Given the description of an element on the screen output the (x, y) to click on. 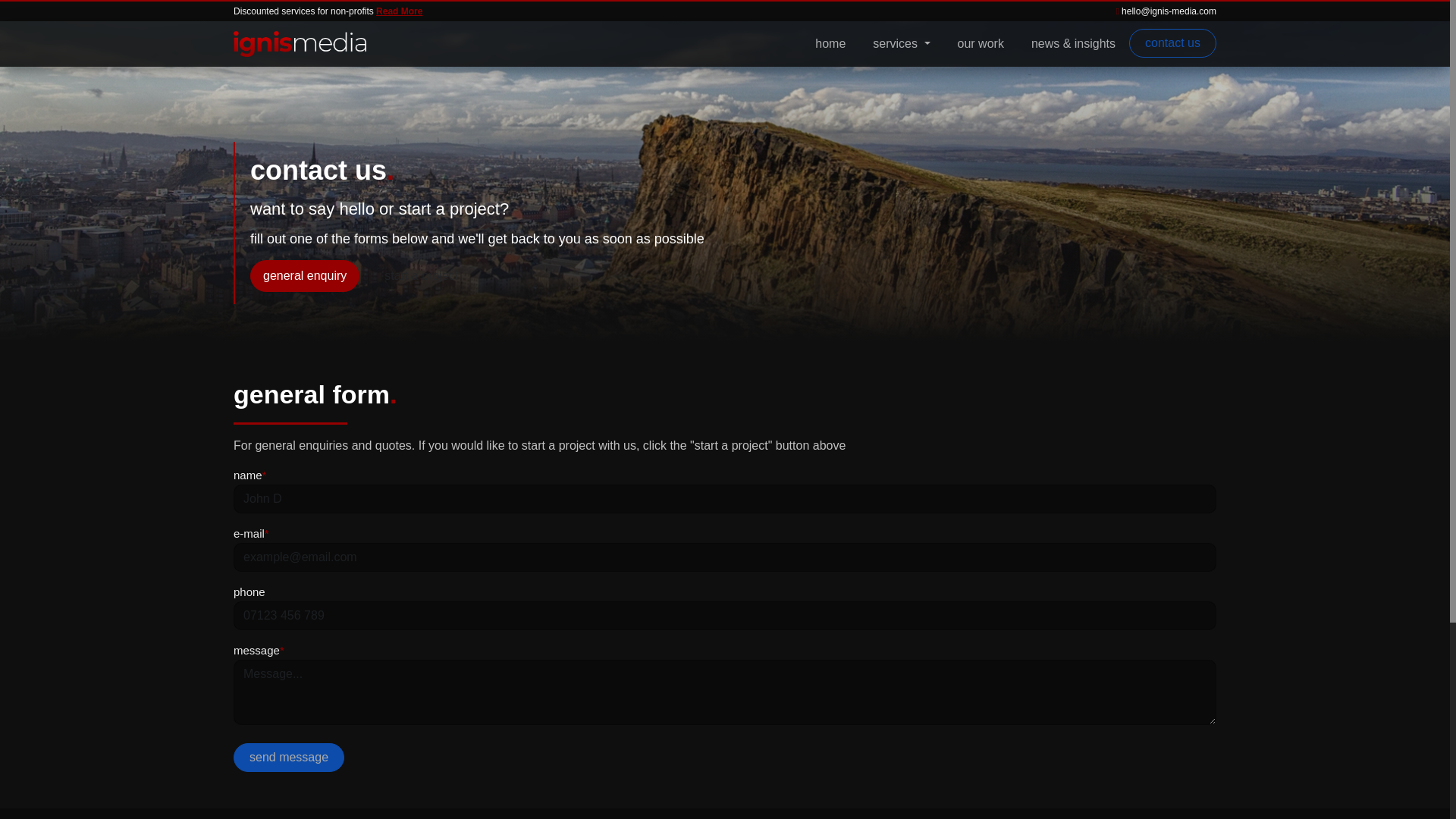
send message (287, 757)
contact us (1172, 42)
our work (981, 43)
Read More (398, 10)
home (830, 43)
start a project (420, 275)
general enquiry (304, 275)
services (901, 43)
contact us (1172, 43)
